Given the description of an element on the screen output the (x, y) to click on. 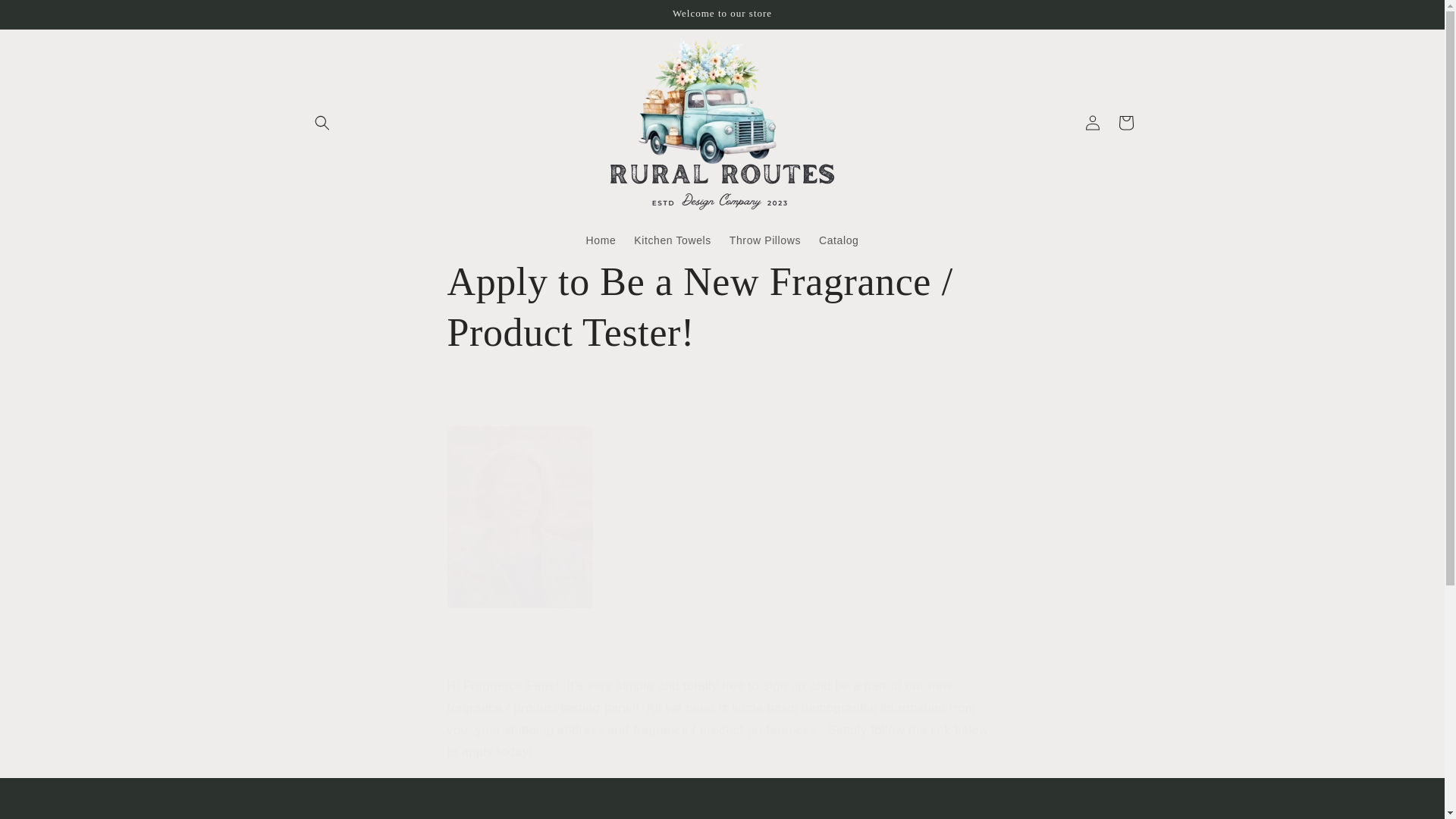
Cart (1124, 122)
Home (601, 240)
Catalog (838, 240)
Throw Pillows (764, 240)
Click Here to Apply! (498, 784)
Click Here to Apply! (498, 784)
Log in (1091, 122)
Kitchen Towels (672, 240)
Skip to content (45, 17)
